Given the description of an element on the screen output the (x, y) to click on. 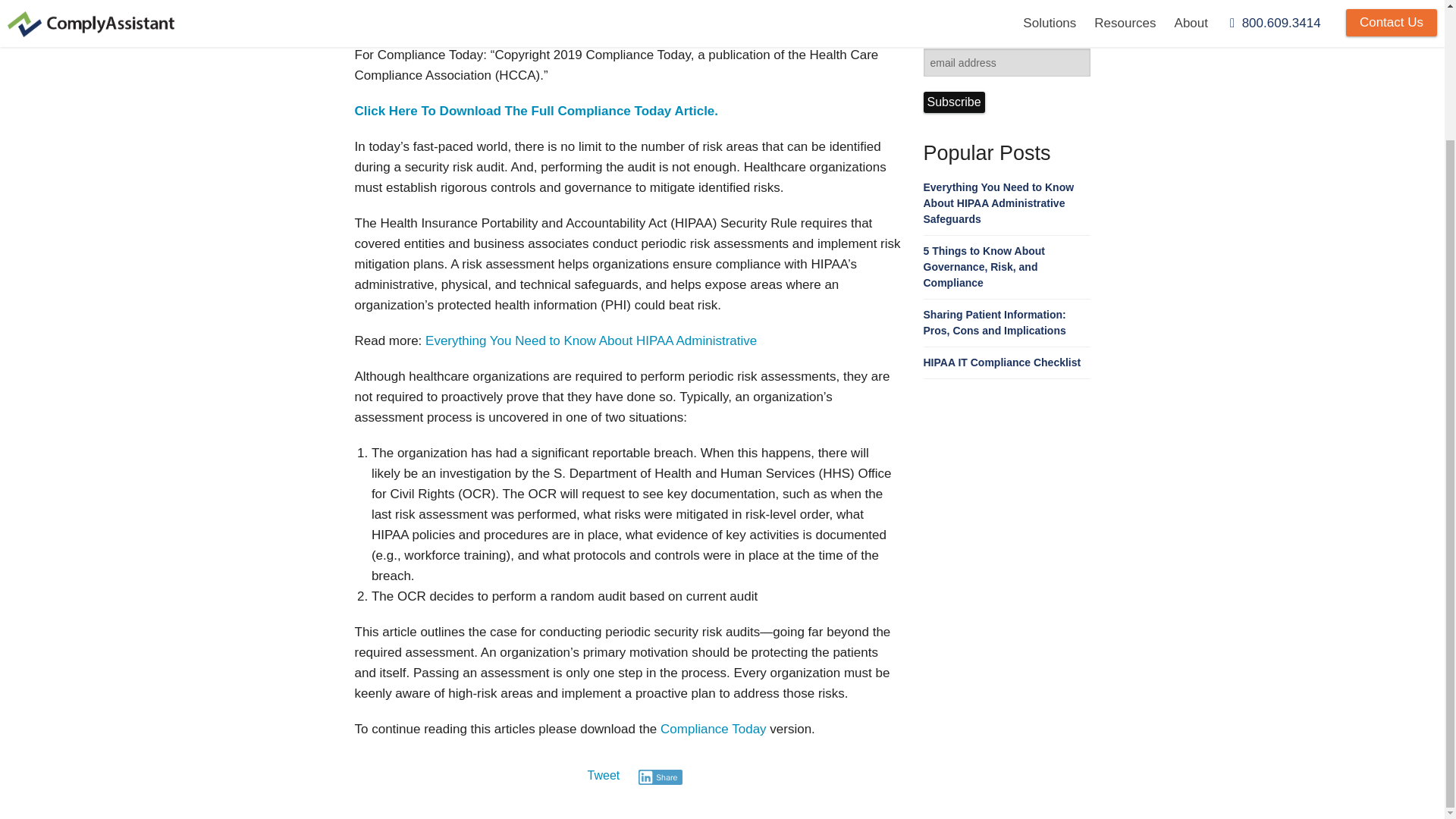
Everything You Need to Know About HIPAA Administrative (591, 340)
HIPAA IT Compliance Checklist (1002, 362)
5 Things to Know About Governance, Risk, and Compliance (984, 266)
Subscribe (954, 102)
Compliance Today (714, 728)
Subscribe (954, 102)
Everything You Need to Know About HIPAA Administrative (591, 340)
Click Here To Download The Full Compliance Today Article. (537, 110)
Tweet (604, 775)
